Given the description of an element on the screen output the (x, y) to click on. 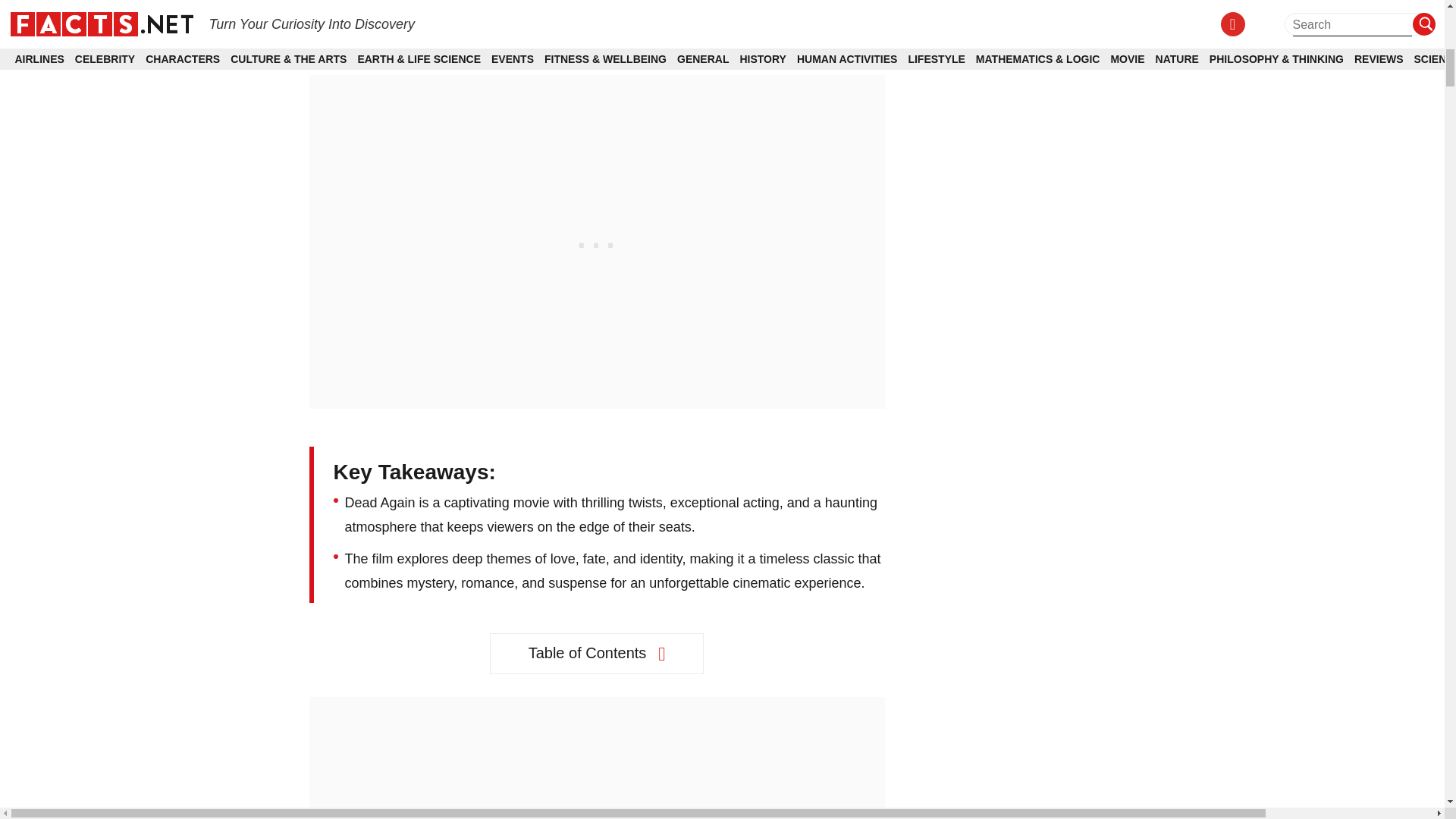
discover (333, 30)
Dead (423, 7)
